Given the description of an element on the screen output the (x, y) to click on. 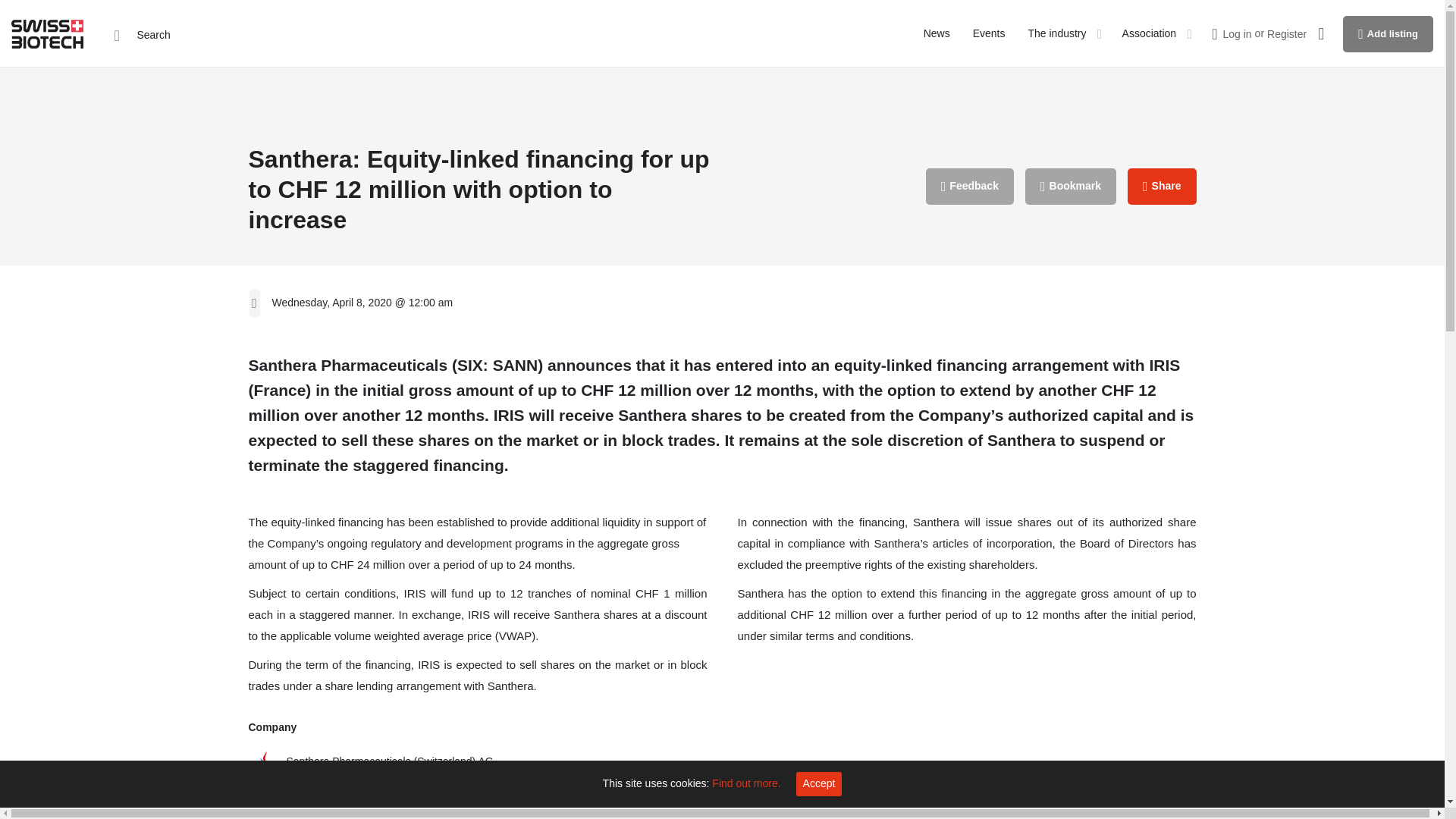
Bookmark (1070, 186)
Register (1286, 33)
Association (1149, 32)
Feedback (969, 186)
News (936, 32)
Log in (1236, 33)
The industry (1056, 32)
Share (1161, 186)
Events (989, 32)
Add listing (1387, 33)
